Given the description of an element on the screen output the (x, y) to click on. 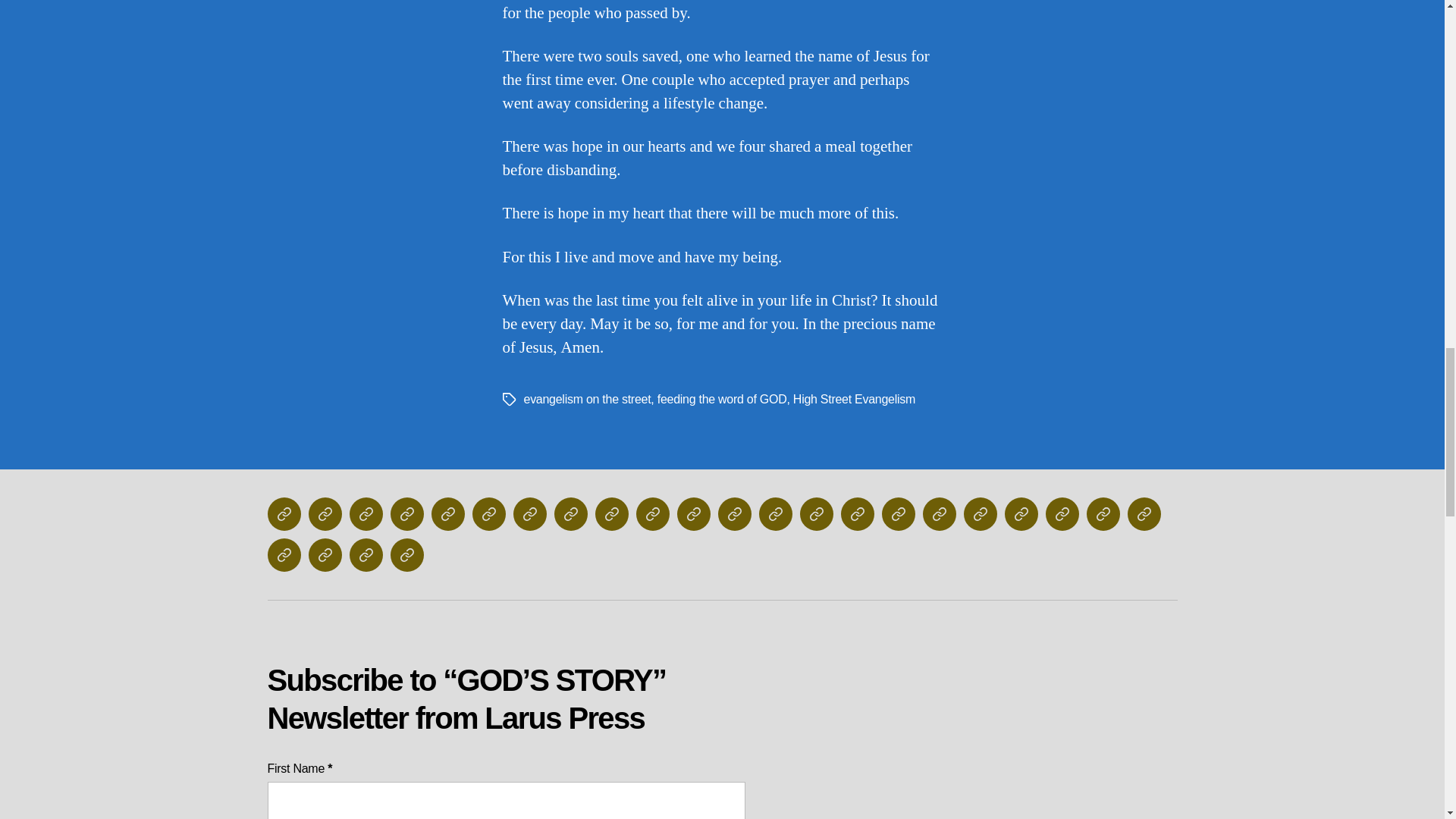
First Name (505, 800)
